Given the description of an element on the screen output the (x, y) to click on. 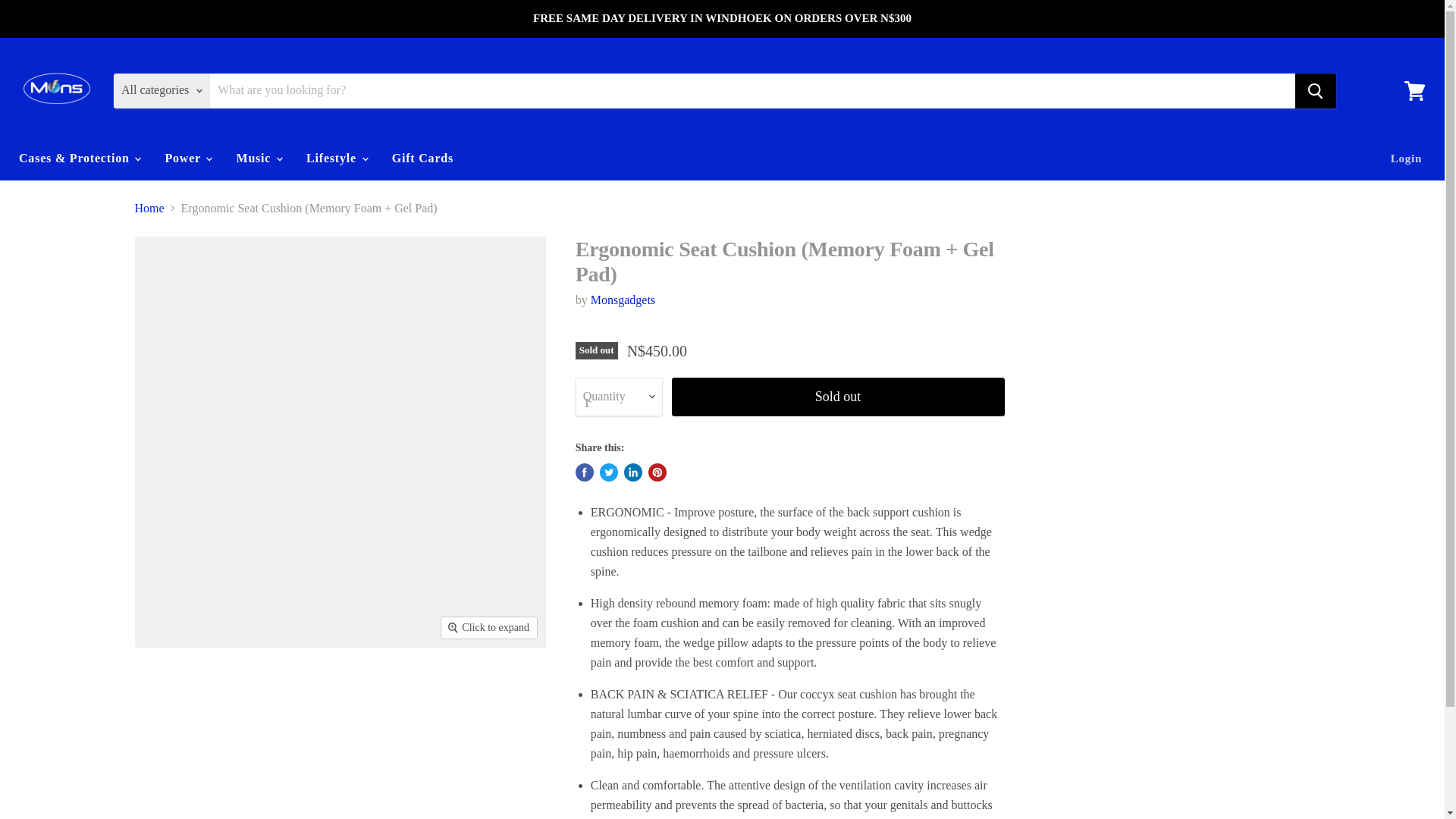
View cart (1414, 89)
Monsgadgets (623, 299)
